Given the description of an element on the screen output the (x, y) to click on. 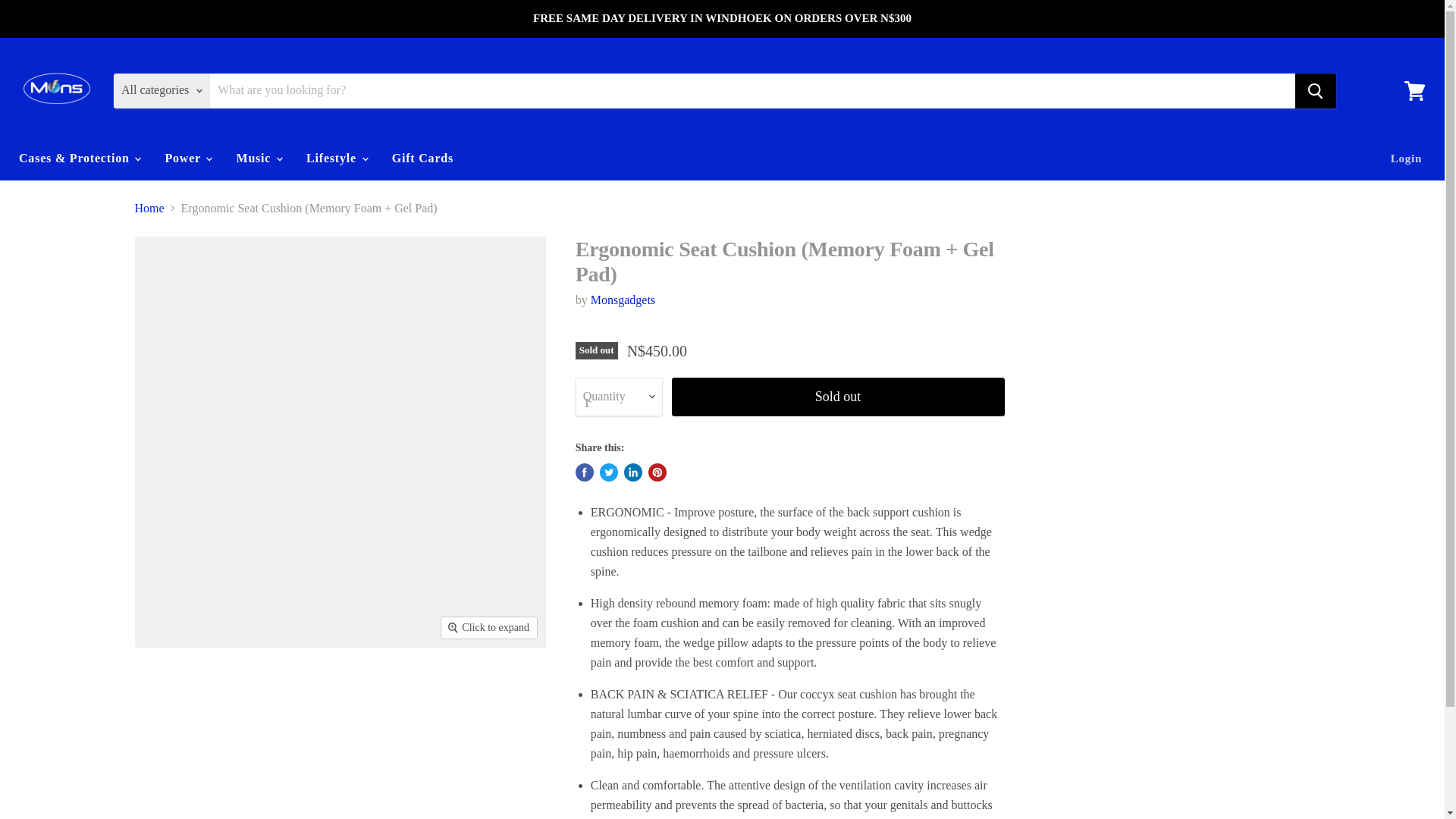
View cart (1414, 89)
Monsgadgets (623, 299)
